Given the description of an element on the screen output the (x, y) to click on. 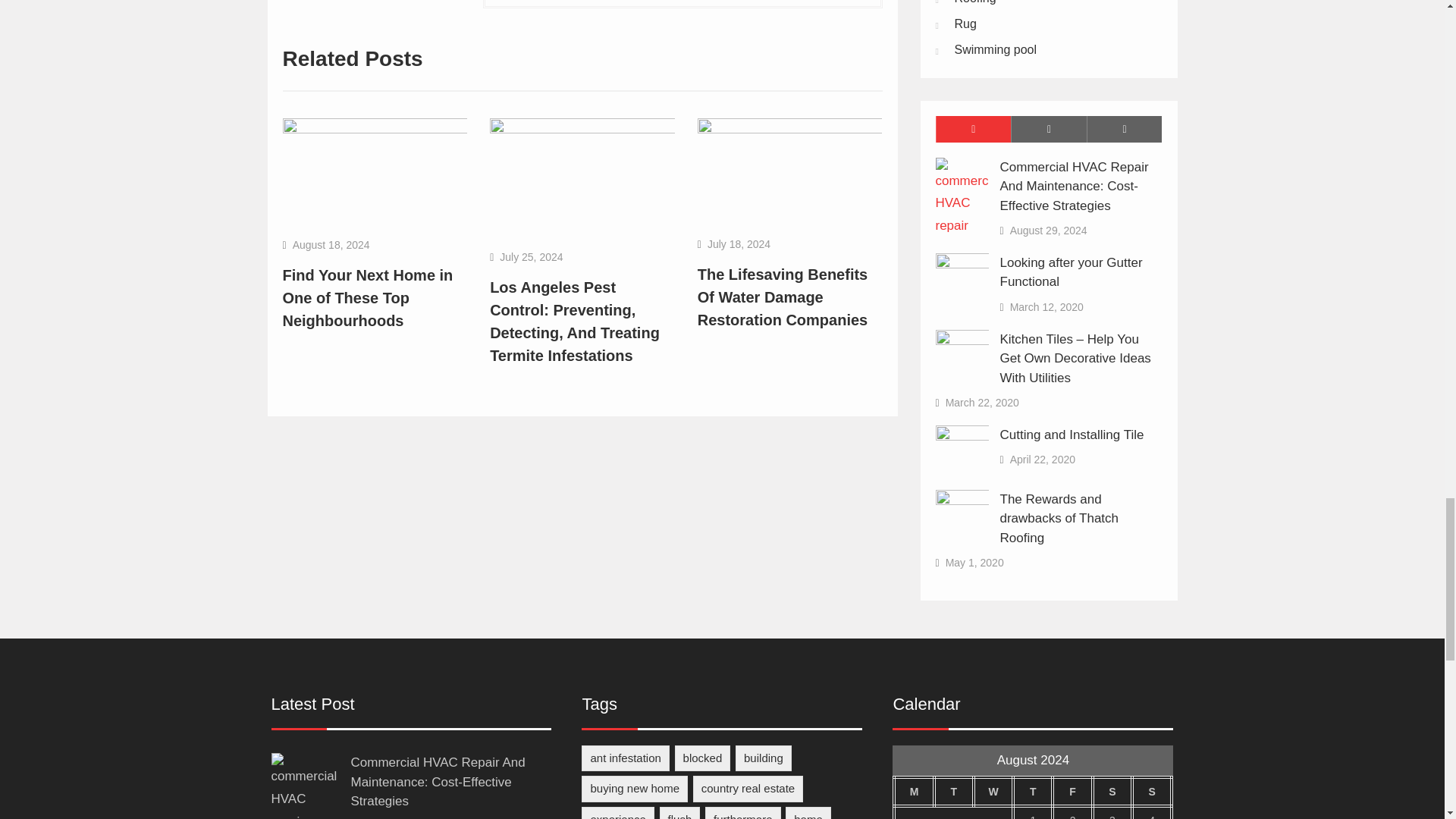
Find Your Next Home in One of These Top Neighbourhoods (367, 297)
Thursday (1032, 791)
Tuesday (954, 791)
Saturday (1112, 791)
Wednesday (993, 791)
Sunday (1152, 791)
Monday (913, 791)
